Given the description of an element on the screen output the (x, y) to click on. 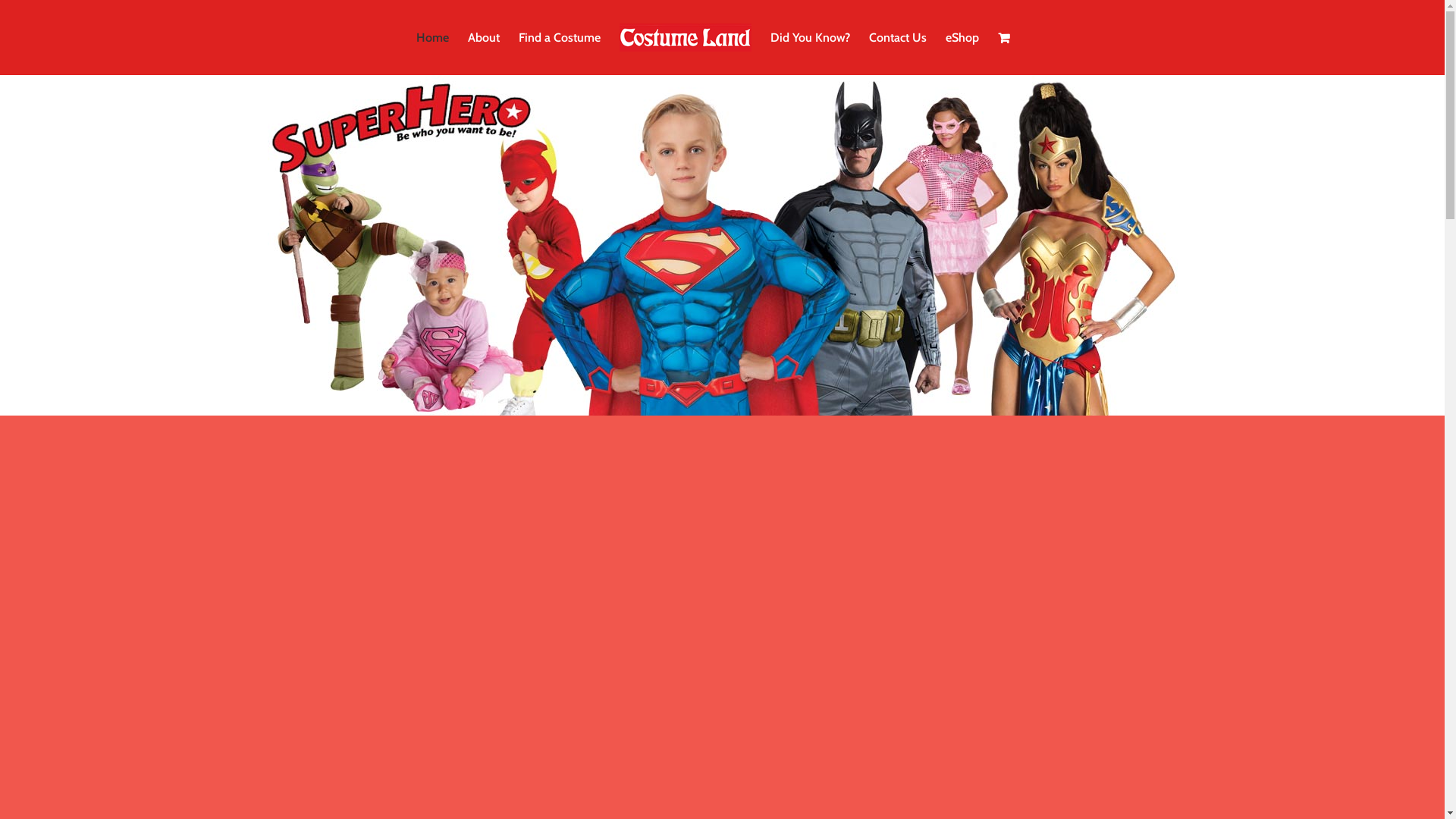
eShop Element type: text (962, 37)
Did You Know? Element type: text (810, 37)
About Element type: text (483, 37)
Contact Us Element type: text (897, 37)
Home Element type: text (432, 37)
costumeland-melrose-park-costumes Element type: hover (721, 245)
Find a Costume Element type: text (559, 37)
